Given the description of an element on the screen output the (x, y) to click on. 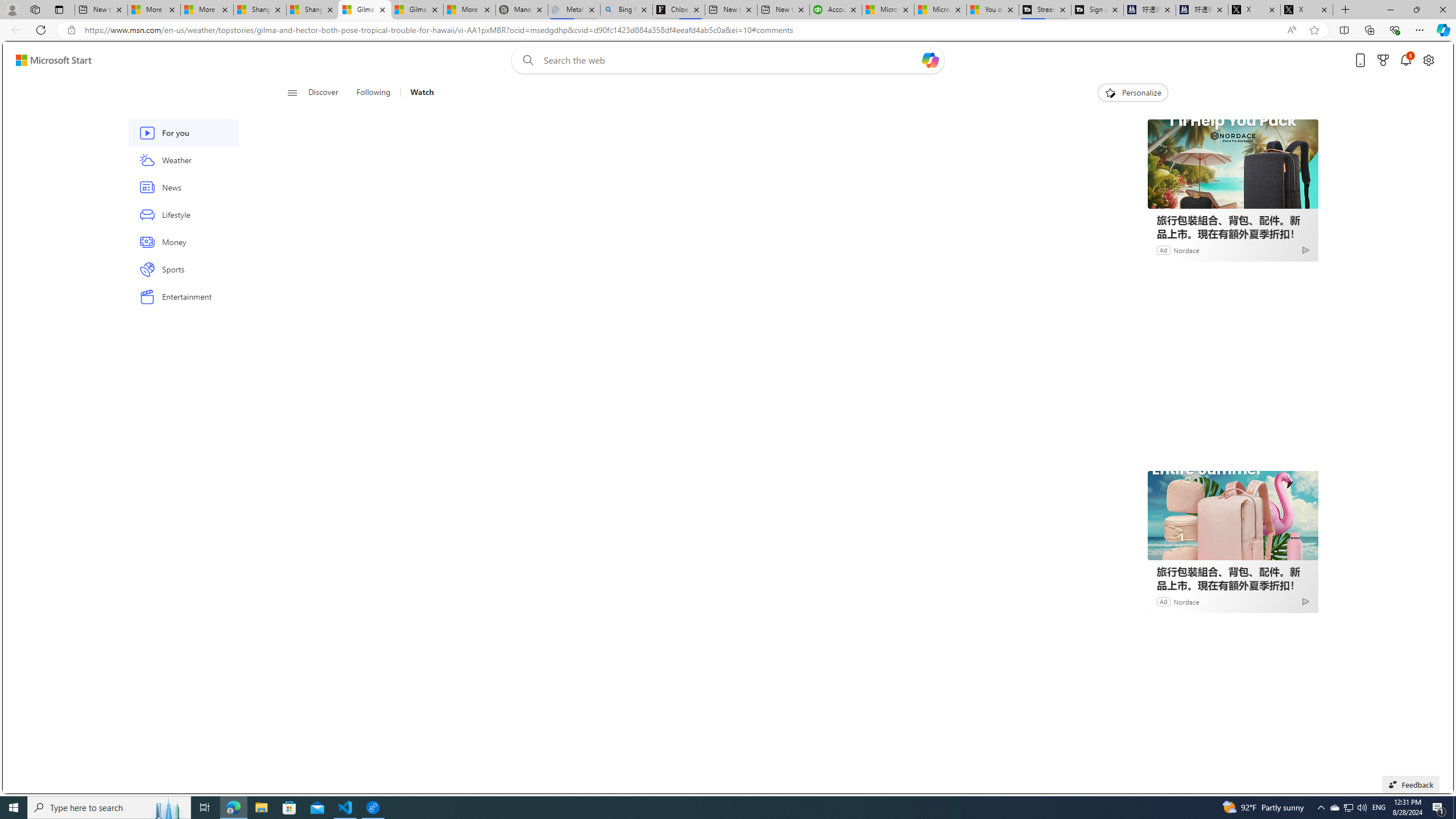
Gilma and Hector both pose tropical trouble for Hawaii (416, 9)
Class: button-glyph (292, 92)
Notifications (1405, 60)
Shanghai, China weather forecast | Microsoft Weather (312, 9)
Following (373, 92)
Skip to footer (46, 59)
Streaming Coverage | T3 (1044, 9)
